Given the description of an element on the screen output the (x, y) to click on. 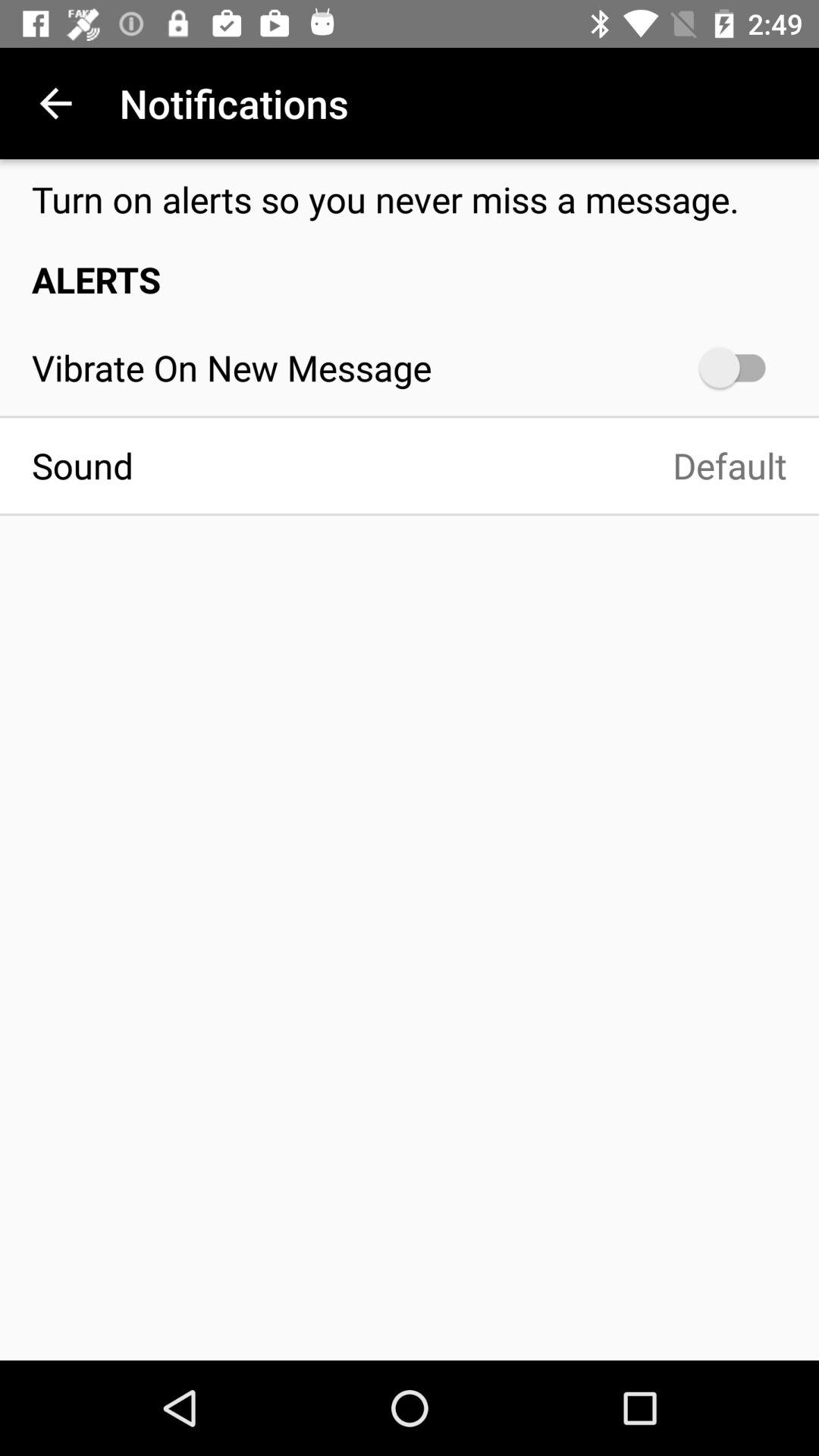
turn on the icon to the left of the notifications icon (55, 103)
